Given the description of an element on the screen output the (x, y) to click on. 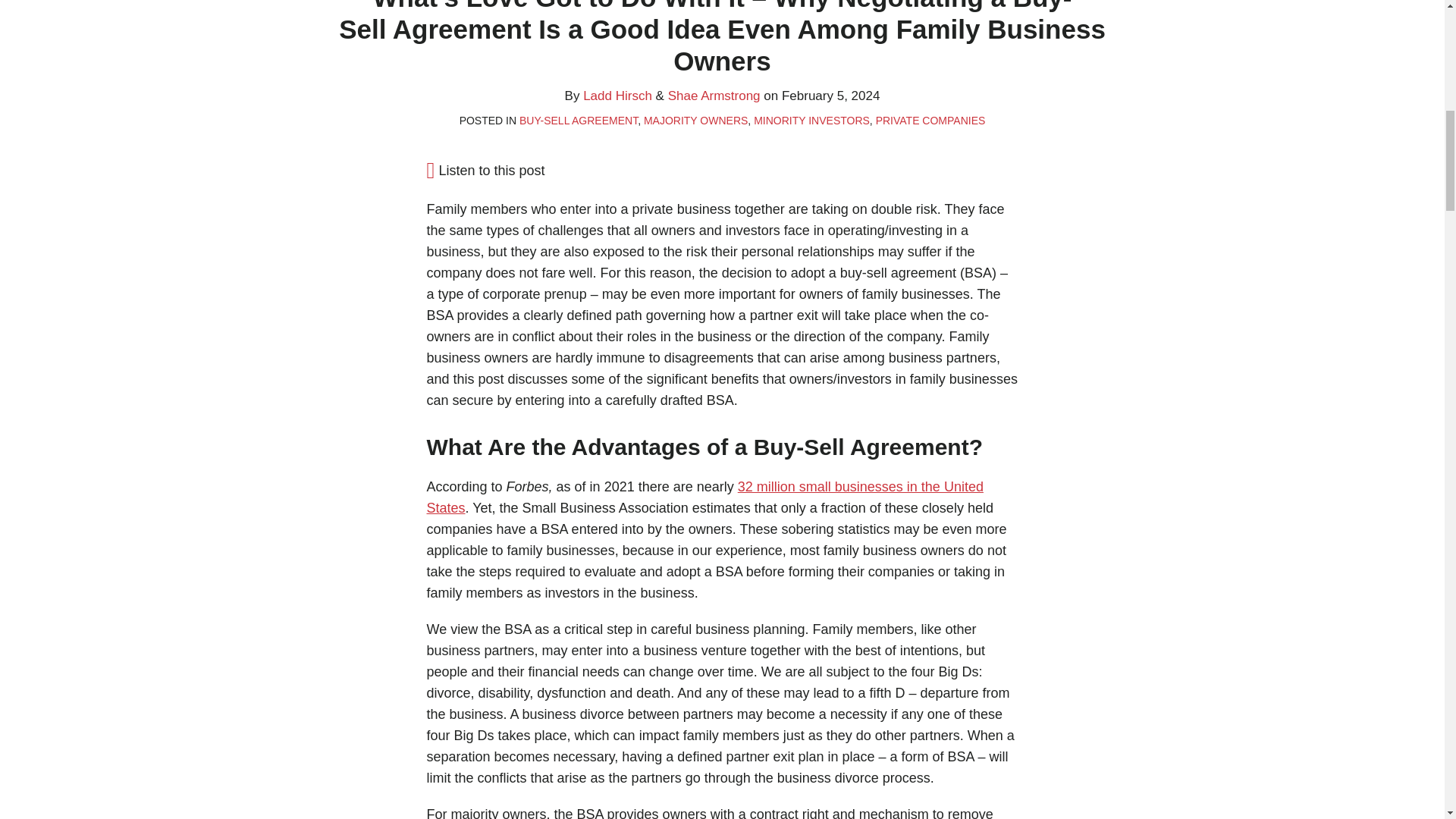
BUY-SELL AGREEMENT (578, 120)
32 million small businesses in the United States (704, 497)
MINORITY INVESTORS (811, 120)
PRIVATE COMPANIES (930, 120)
MAJORITY OWNERS (695, 120)
Shae Armstrong (714, 95)
Ladd Hirsch (617, 95)
